Given the description of an element on the screen output the (x, y) to click on. 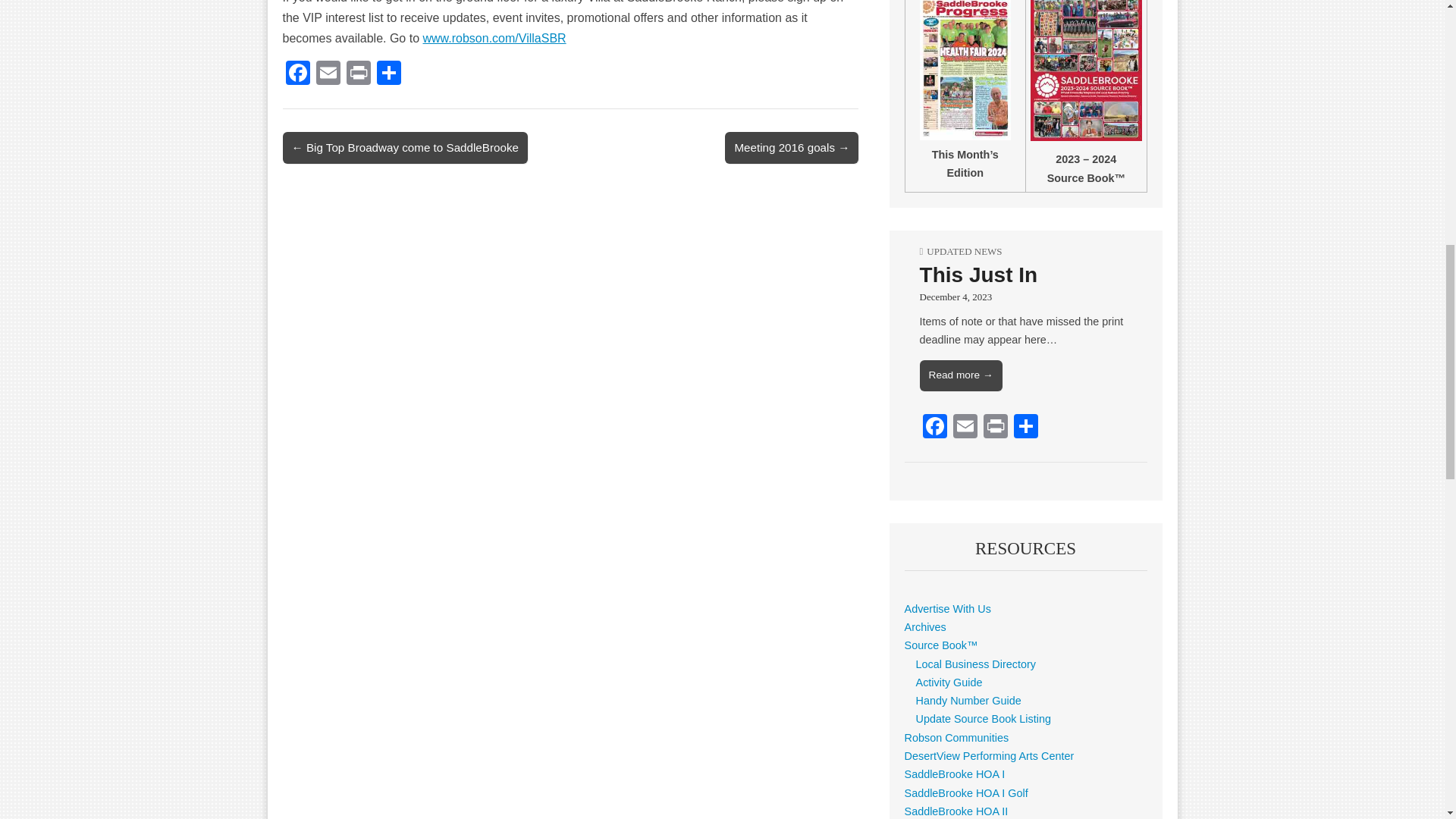
Email (327, 74)
Facebook (935, 428)
Facebook (297, 74)
Facebook (297, 74)
Email (327, 74)
Print (994, 428)
Print (357, 74)
Print (357, 74)
Email (964, 428)
